Given the description of an element on the screen output the (x, y) to click on. 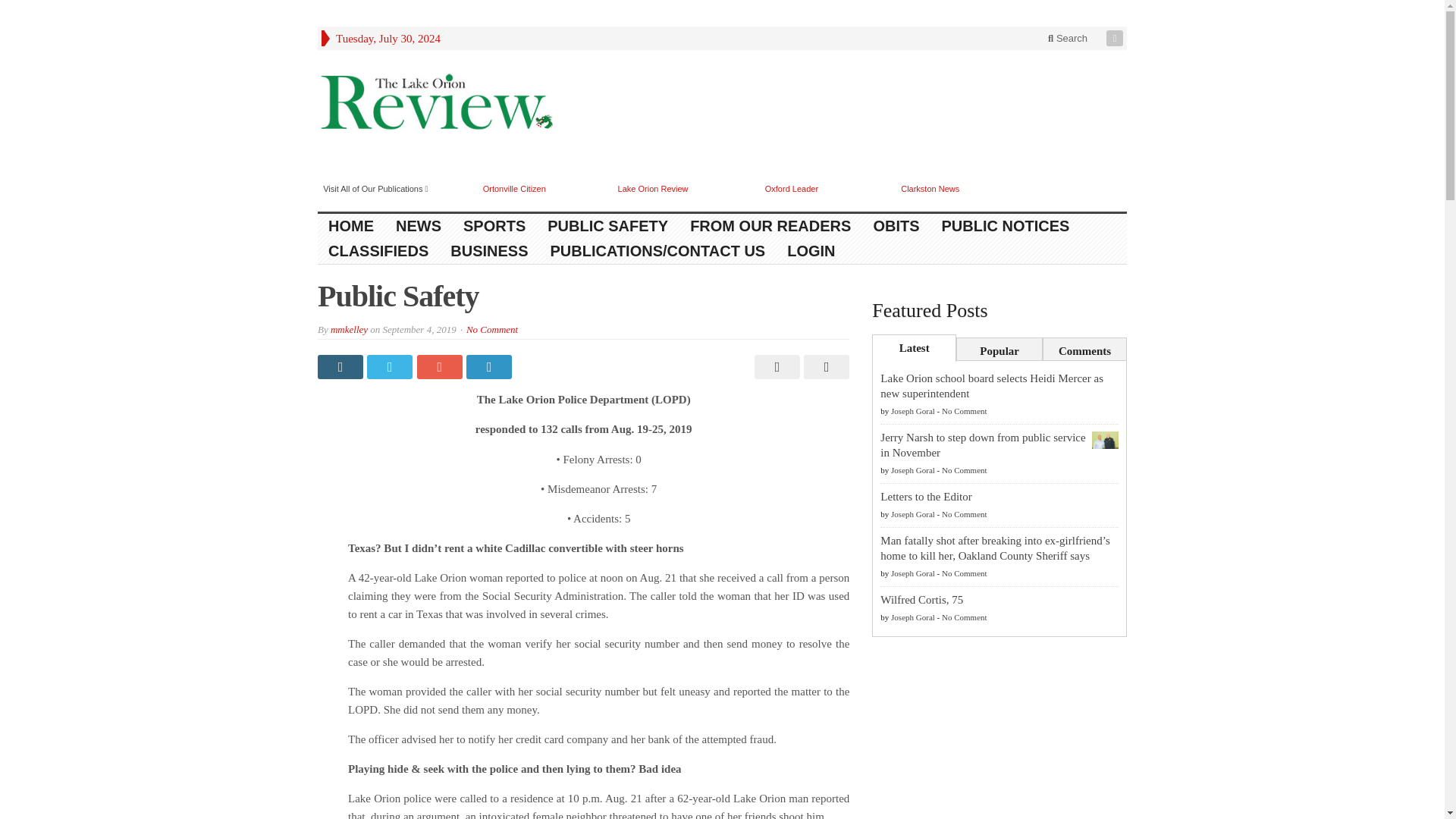
Serving Lake Orion Michigan (435, 103)
Lake Orion Review (652, 188)
Posts by Joseph Goral (912, 470)
mmkelley (349, 328)
Site feed (1115, 37)
OBITS (895, 226)
FROM OUR READERS (770, 226)
No Comment (491, 328)
NEWS (418, 226)
LOGIN (810, 251)
Search (1067, 37)
Clarkston News (930, 188)
Oxford Leader (791, 188)
SPORTS (494, 226)
